Given the description of an element on the screen output the (x, y) to click on. 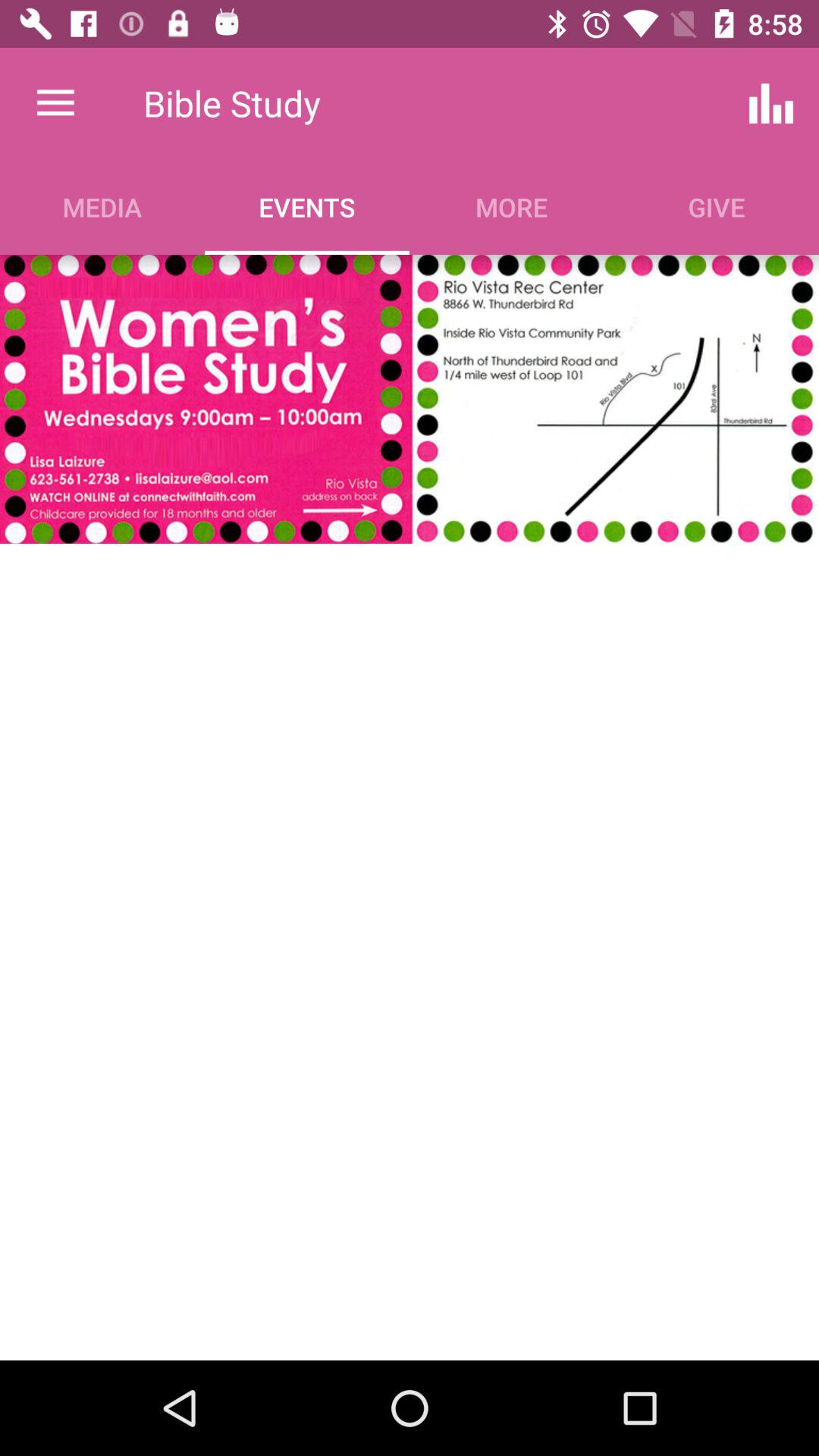
turn off icon below the media item (409, 398)
